Given the description of an element on the screen output the (x, y) to click on. 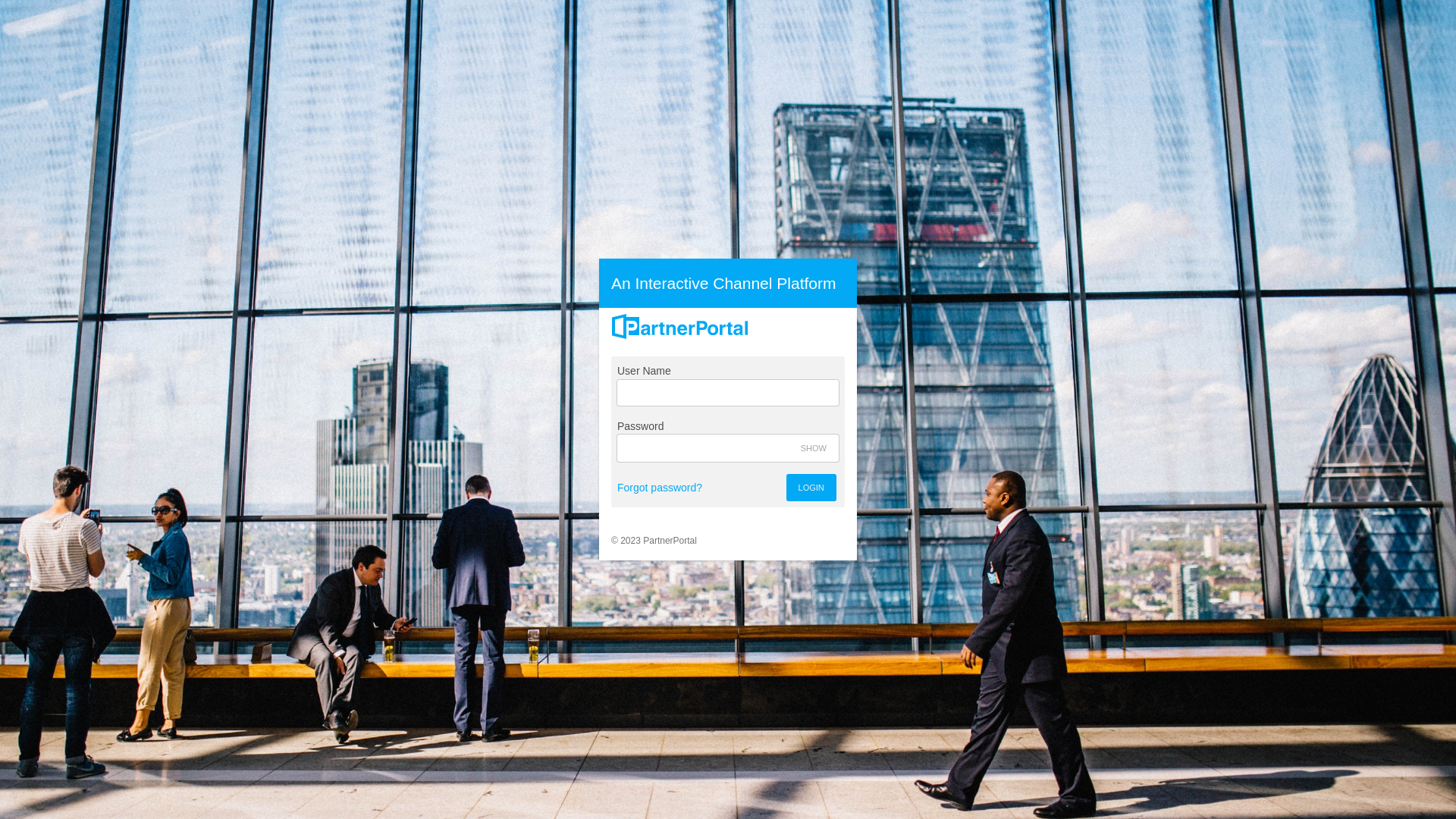
Forgot password? Element type: text (659, 487)
LOGIN Element type: text (811, 487)
